Given the description of an element on the screen output the (x, y) to click on. 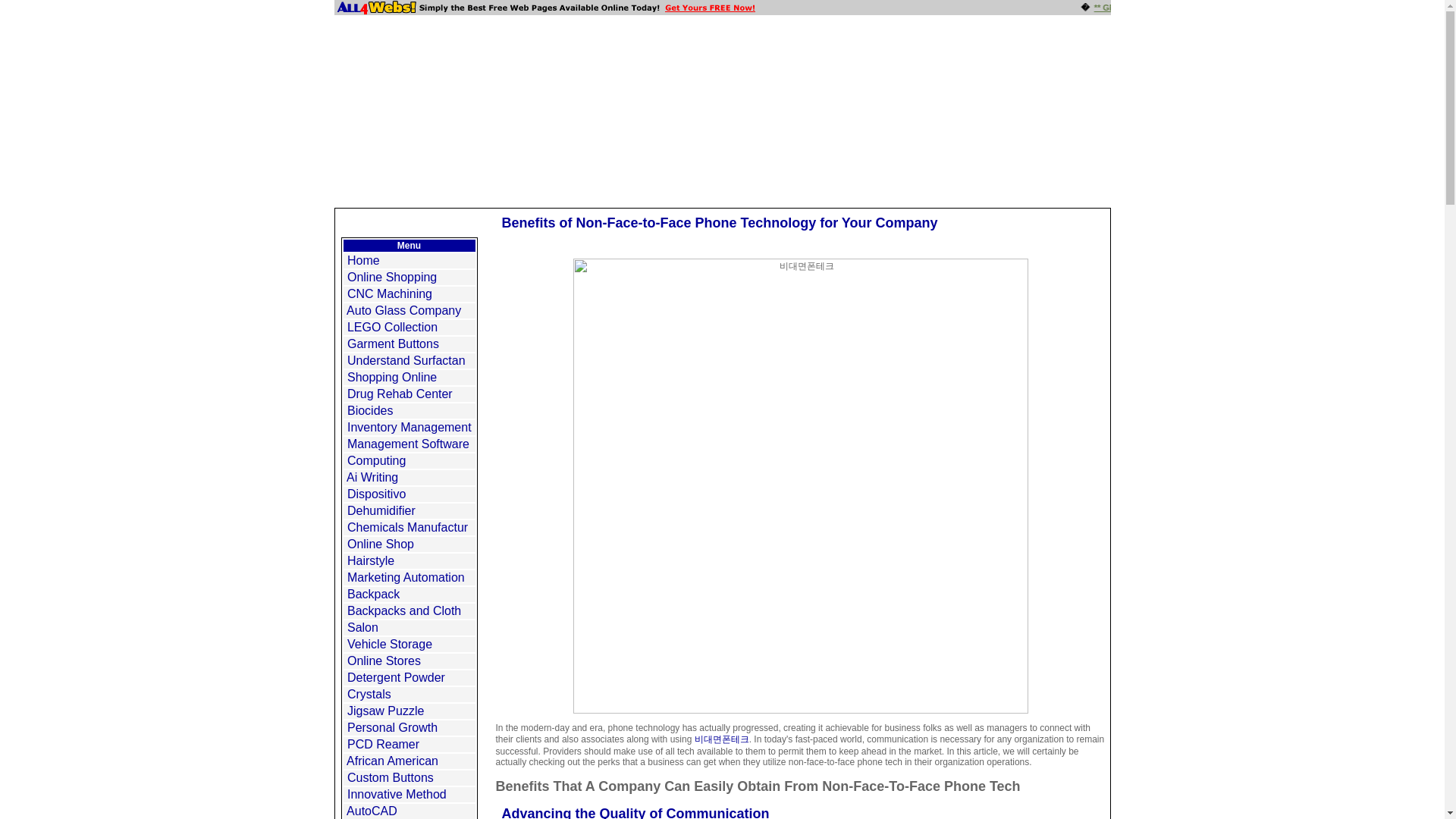
Garment Buttons (393, 343)
Chemicals Manufactur (407, 526)
Management Software (407, 443)
Hairstyle (370, 560)
Backpack (372, 594)
Ai Writing (371, 477)
Shopping Online (391, 377)
Drug Rehab Center (399, 393)
Jigsaw Puzzle (385, 710)
Personal Growth (392, 727)
